Given the description of an element on the screen output the (x, y) to click on. 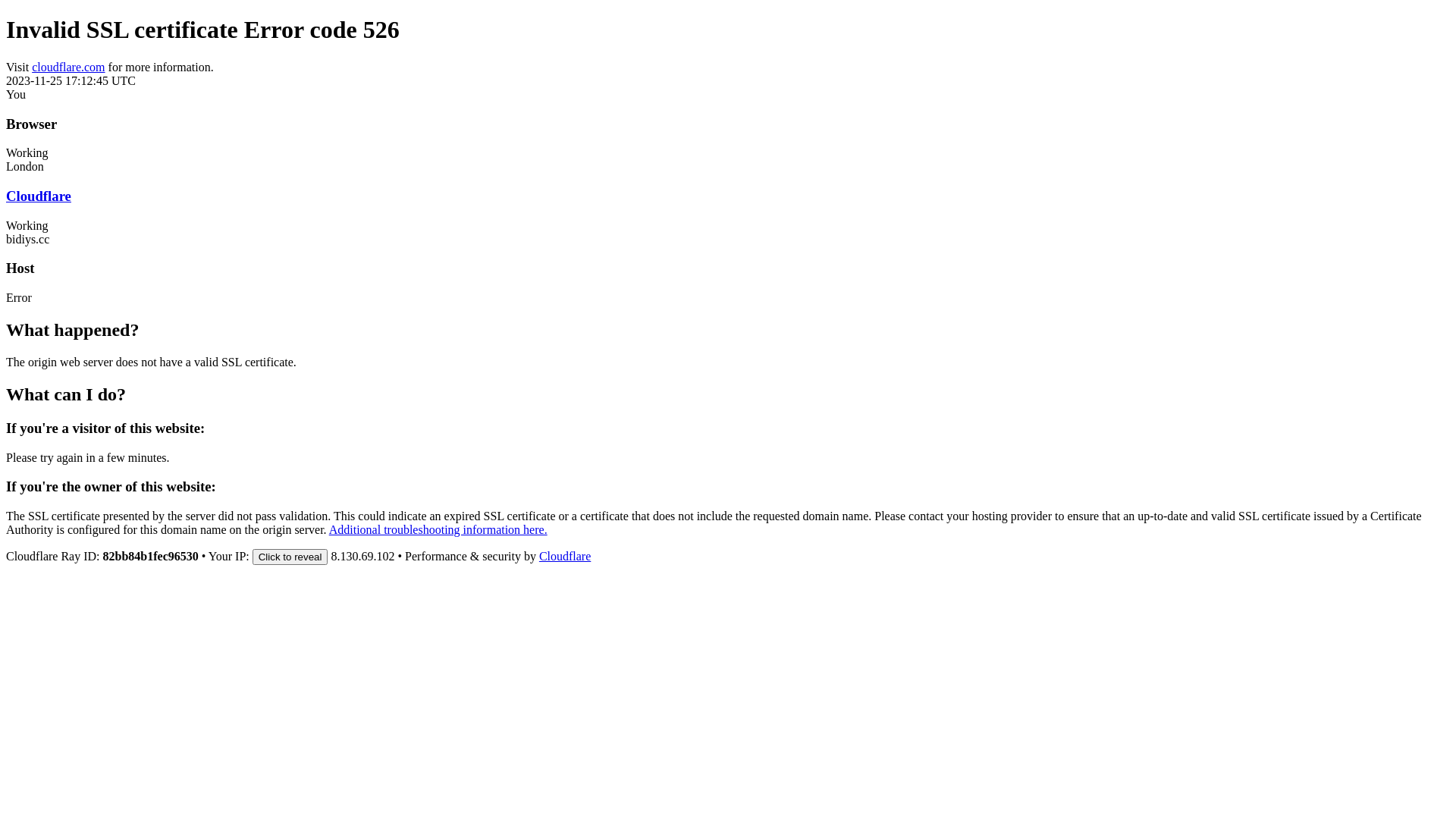
Click to reveal Element type: text (290, 556)
Cloudflare Element type: text (564, 555)
Additional troubleshooting information here. Element type: text (438, 529)
Cloudflare Element type: text (38, 195)
cloudflare.com Element type: text (67, 66)
